Given the description of an element on the screen output the (x, y) to click on. 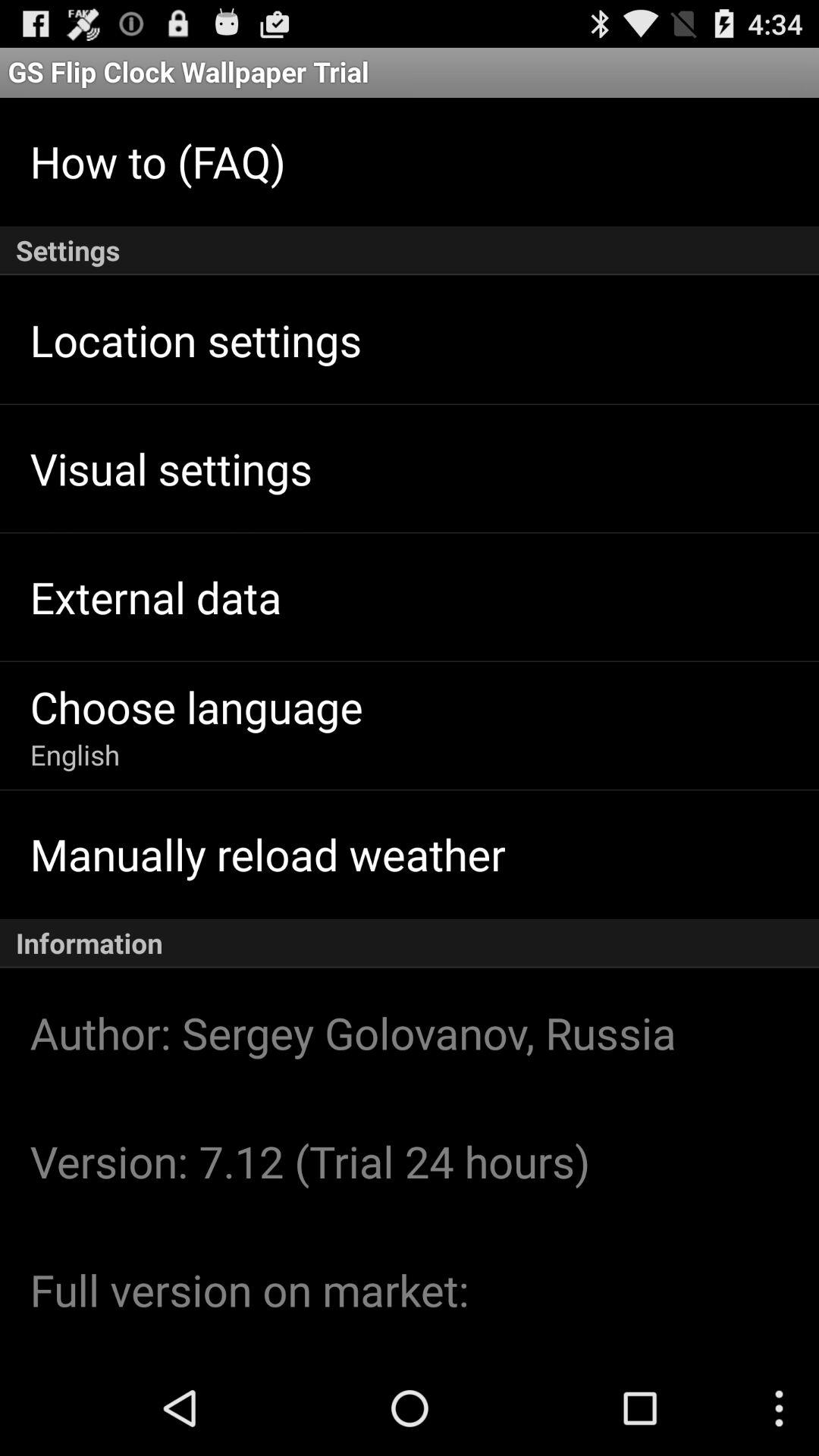
swipe until manually reload weather icon (267, 853)
